Given the description of an element on the screen output the (x, y) to click on. 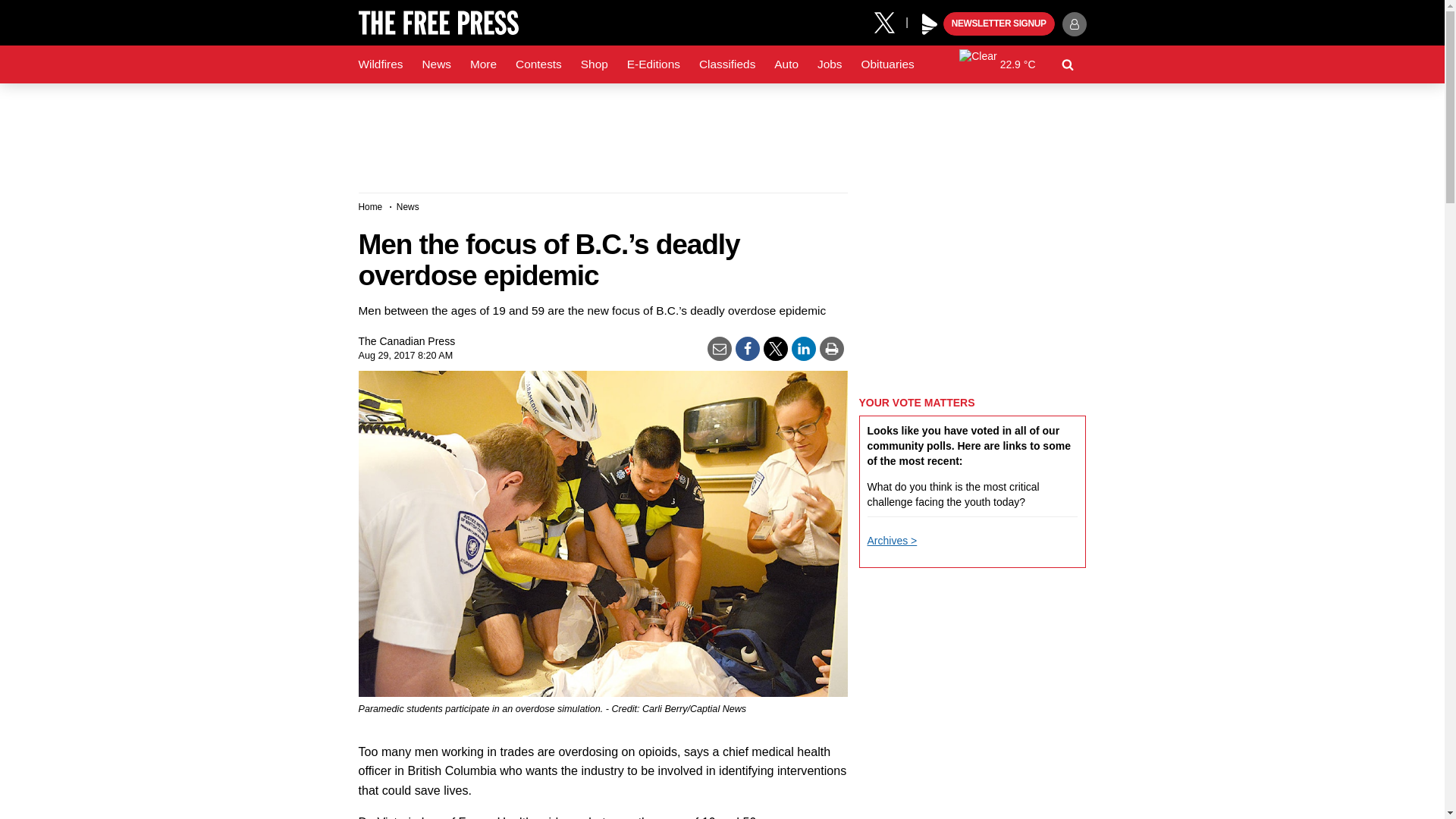
X (889, 21)
NEWSLETTER SIGNUP (998, 24)
Wildfires (380, 64)
News (435, 64)
Play (929, 24)
Black Press Media (929, 24)
